Given the description of an element on the screen output the (x, y) to click on. 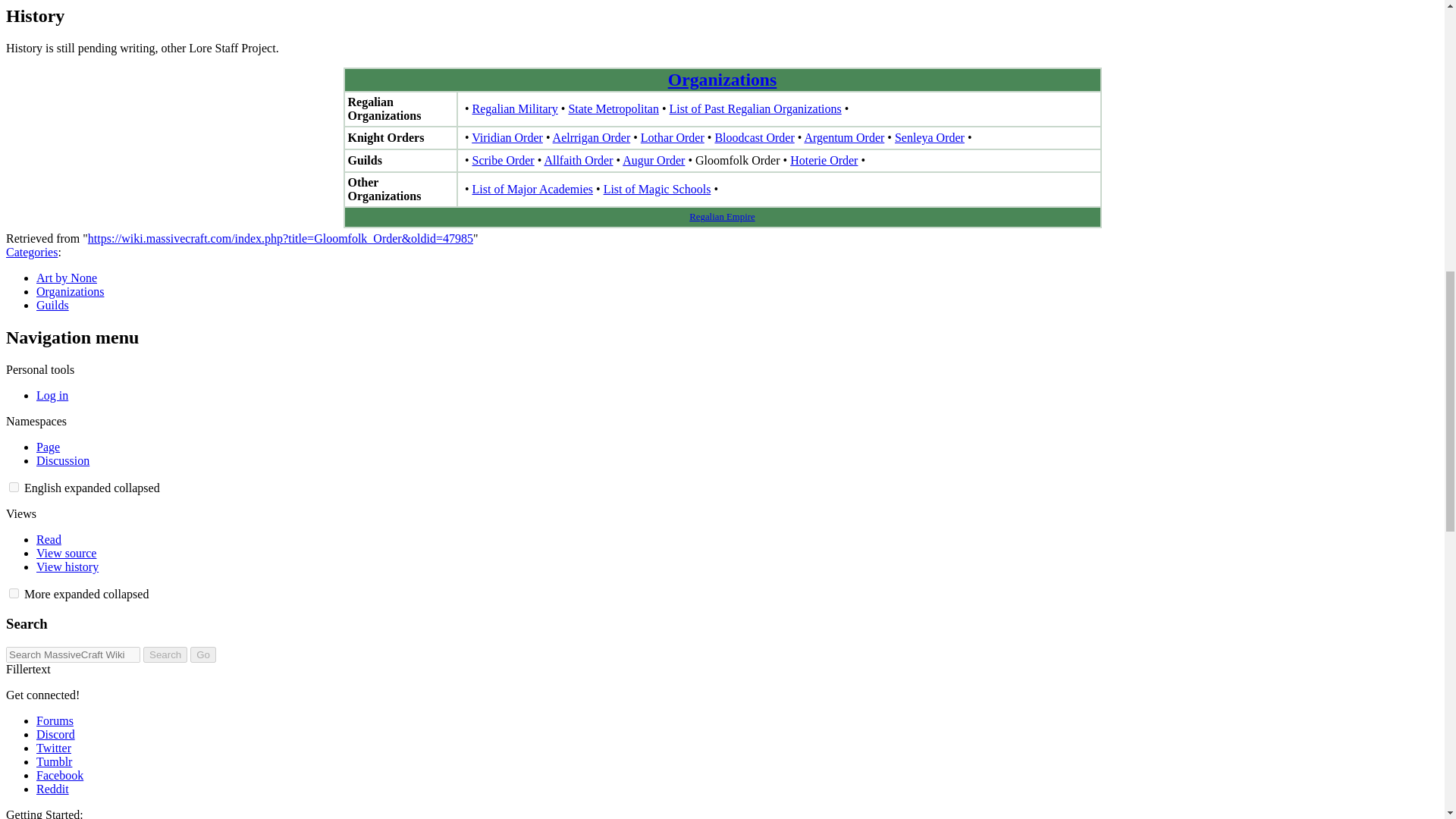
List of Past Regalian Organizations (755, 108)
View source (66, 553)
State Metropolitan (613, 108)
Search (164, 654)
List of Major Academies (531, 188)
Argentum Order (843, 137)
View history (67, 566)
Scribe Order (502, 160)
Regalian Empire (721, 216)
Senleya Order (929, 137)
Bloodcast Order (753, 137)
Viridian Order (507, 137)
Organizations (722, 79)
Argentum Order (843, 137)
Regalian Military (514, 108)
